Given the description of an element on the screen output the (x, y) to click on. 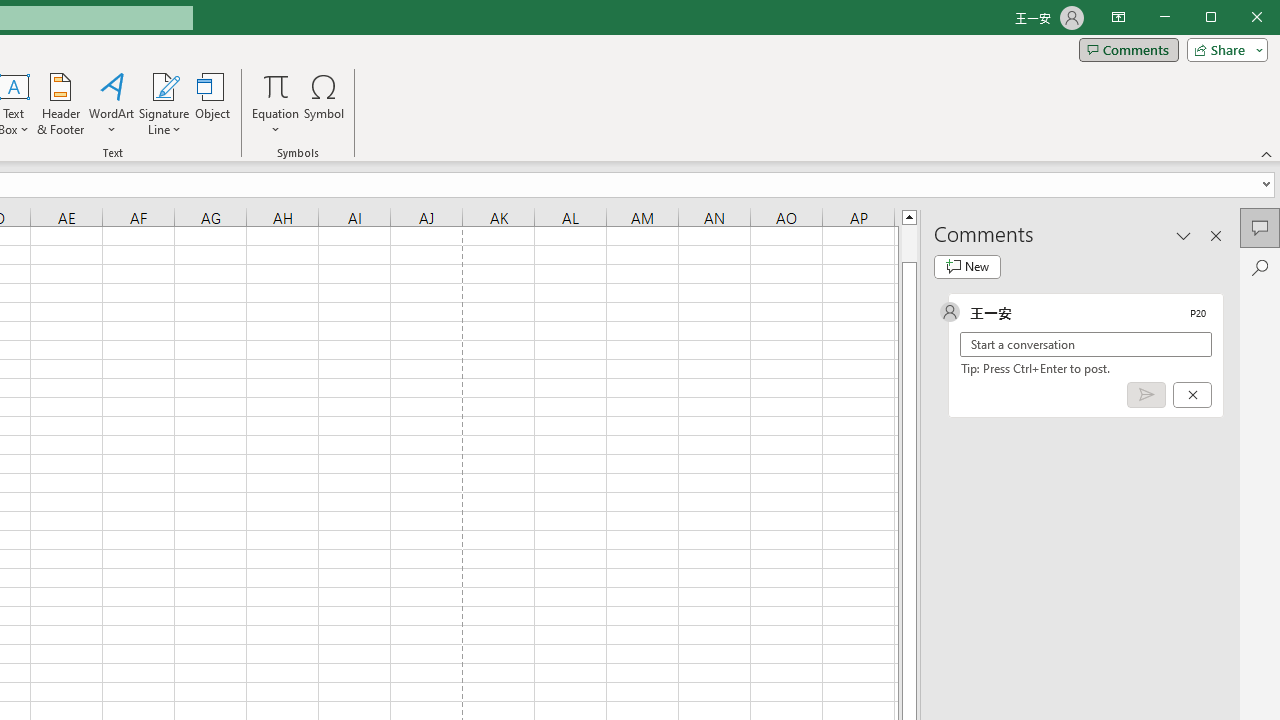
Post comment (Ctrl + Enter) (1146, 395)
Page up (909, 243)
Start a conversation (1085, 344)
Equation (275, 104)
Symbol... (324, 104)
WordArt (111, 104)
Header & Footer... (60, 104)
